Given the description of an element on the screen output the (x, y) to click on. 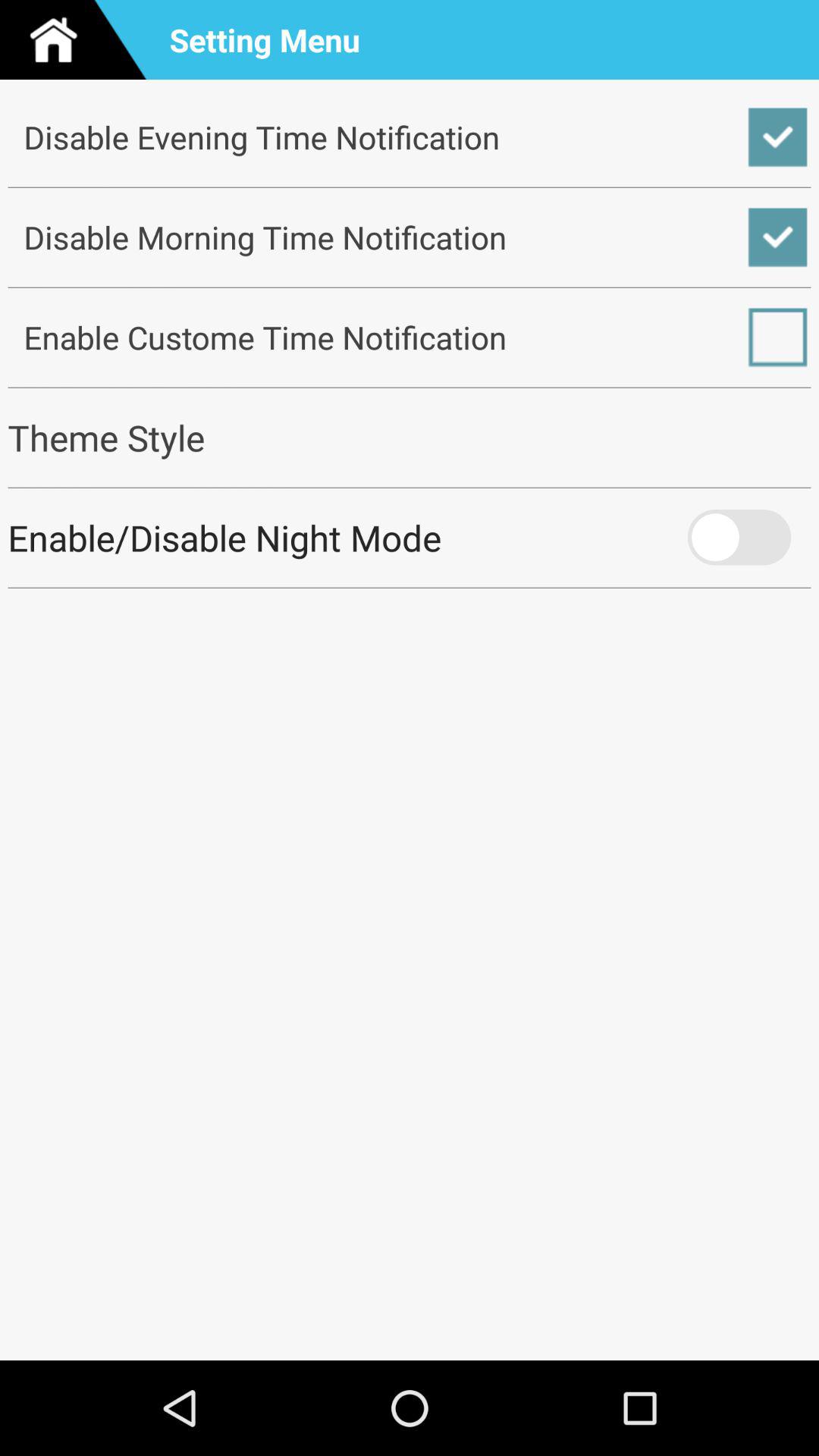
home (79, 39)
